Given the description of an element on the screen output the (x, y) to click on. 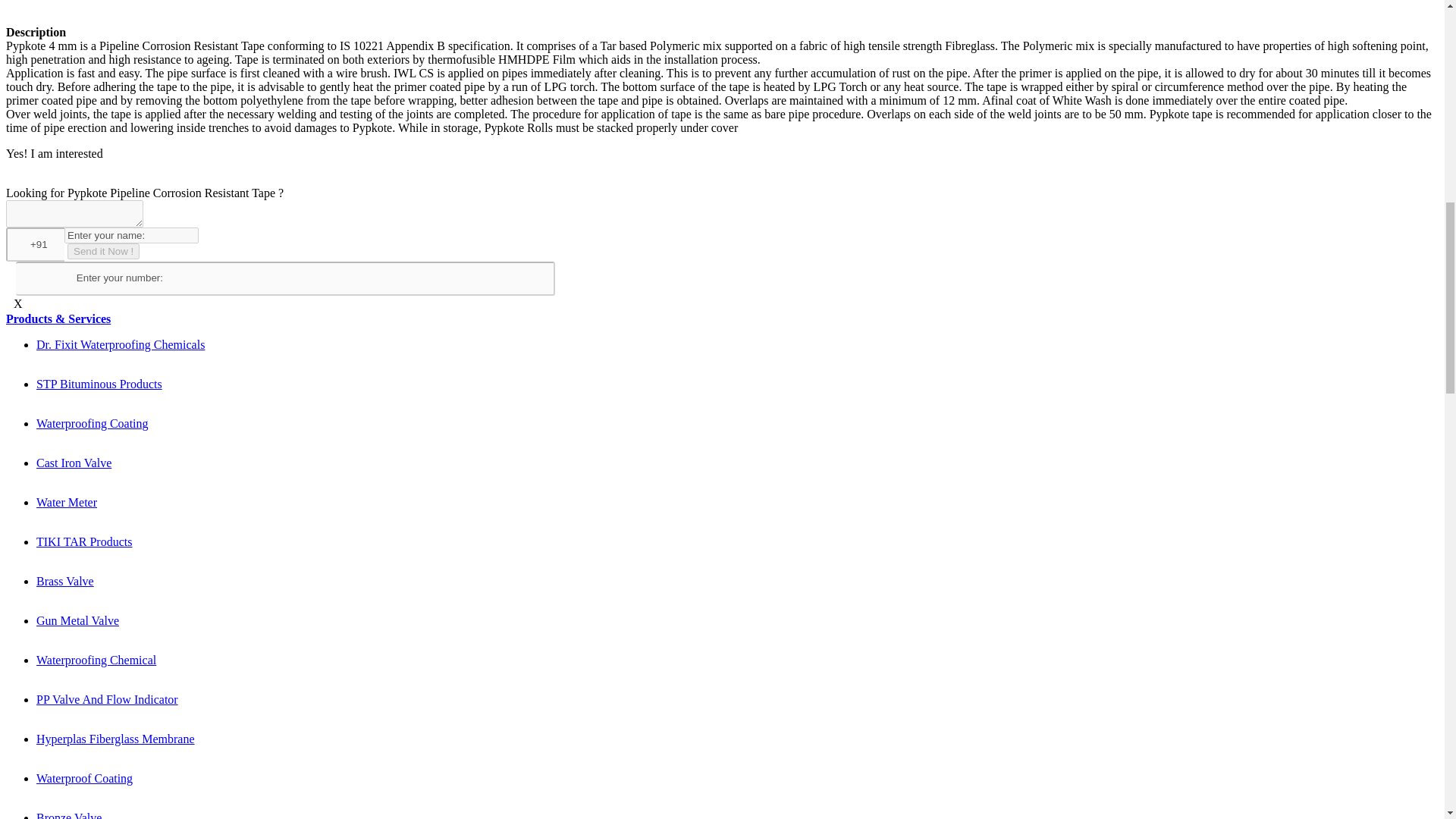
Send it Now ! (102, 251)
Waterproofing Coating (92, 422)
Dr. Fixit Waterproofing Chemicals (120, 344)
Cast Iron Valve (74, 462)
STP Bituminous Products (98, 383)
Enter your name: (131, 235)
Send it Now ! (102, 251)
Enter your number: (285, 278)
Water Meter (66, 502)
